Given the description of an element on the screen output the (x, y) to click on. 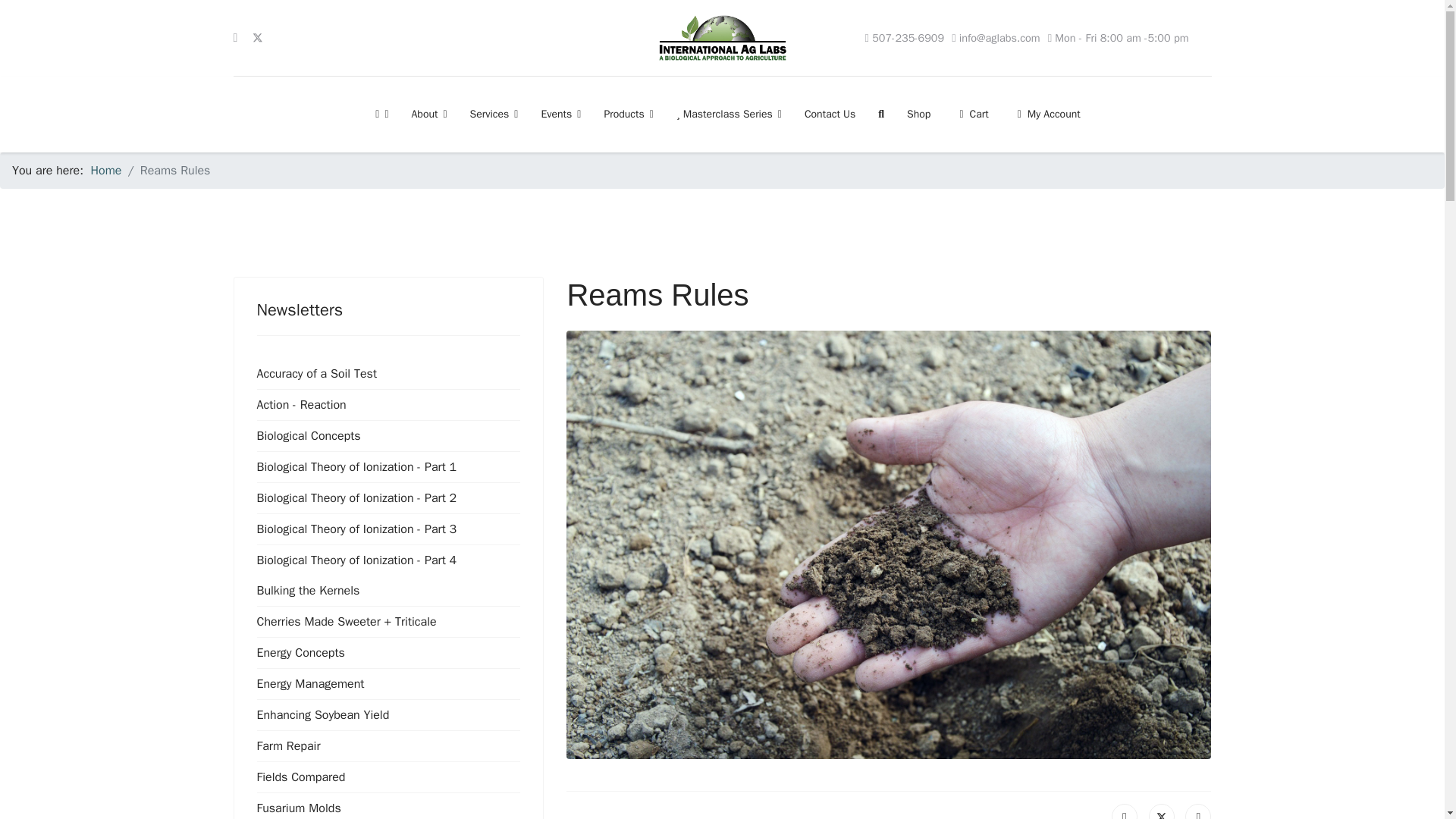
507-235-6909 (907, 38)
LinkedIn (1198, 811)
Facebook (1124, 811)
Twitter (1161, 811)
Products (628, 114)
